Given the description of an element on the screen output the (x, y) to click on. 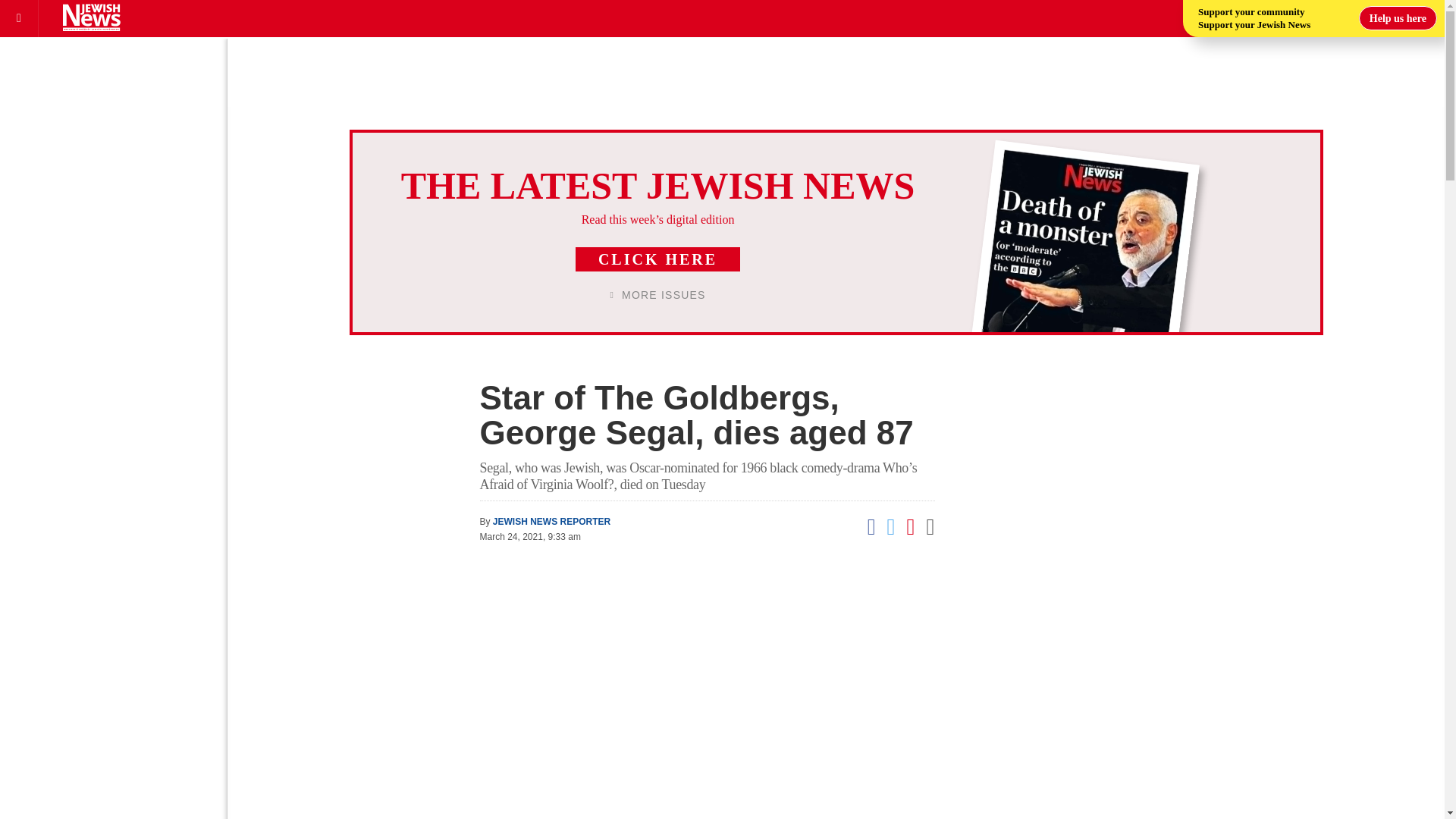
MORE ISSUES (658, 295)
JEWISH NEWS REPORTER (551, 521)
CLICK HERE (657, 259)
Jewish News Reporter (551, 521)
Help us here (1397, 17)
JN 1378 front cover (1066, 269)
